Given the description of an element on the screen output the (x, y) to click on. 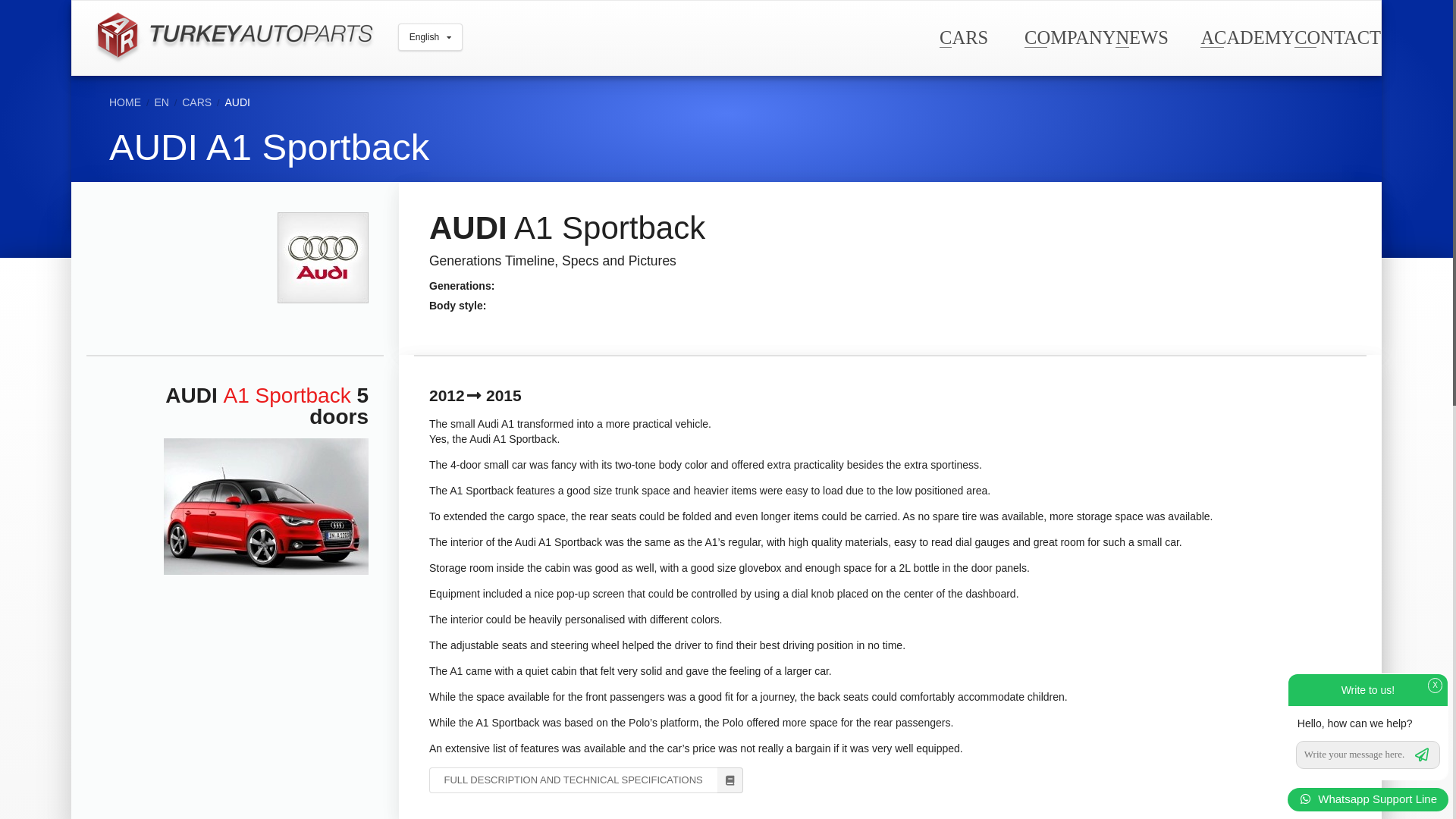
EN (161, 102)
FULL DESCRIPTION AND TECHNICAL SPECIFICATIONS (585, 779)
AUDI (237, 102)
CONTACT (1337, 37)
ACADEMY (1246, 37)
HOME (125, 102)
CARS (963, 37)
CARS (196, 102)
COMPANY (1070, 37)
NEWS (1141, 37)
